Given the description of an element on the screen output the (x, y) to click on. 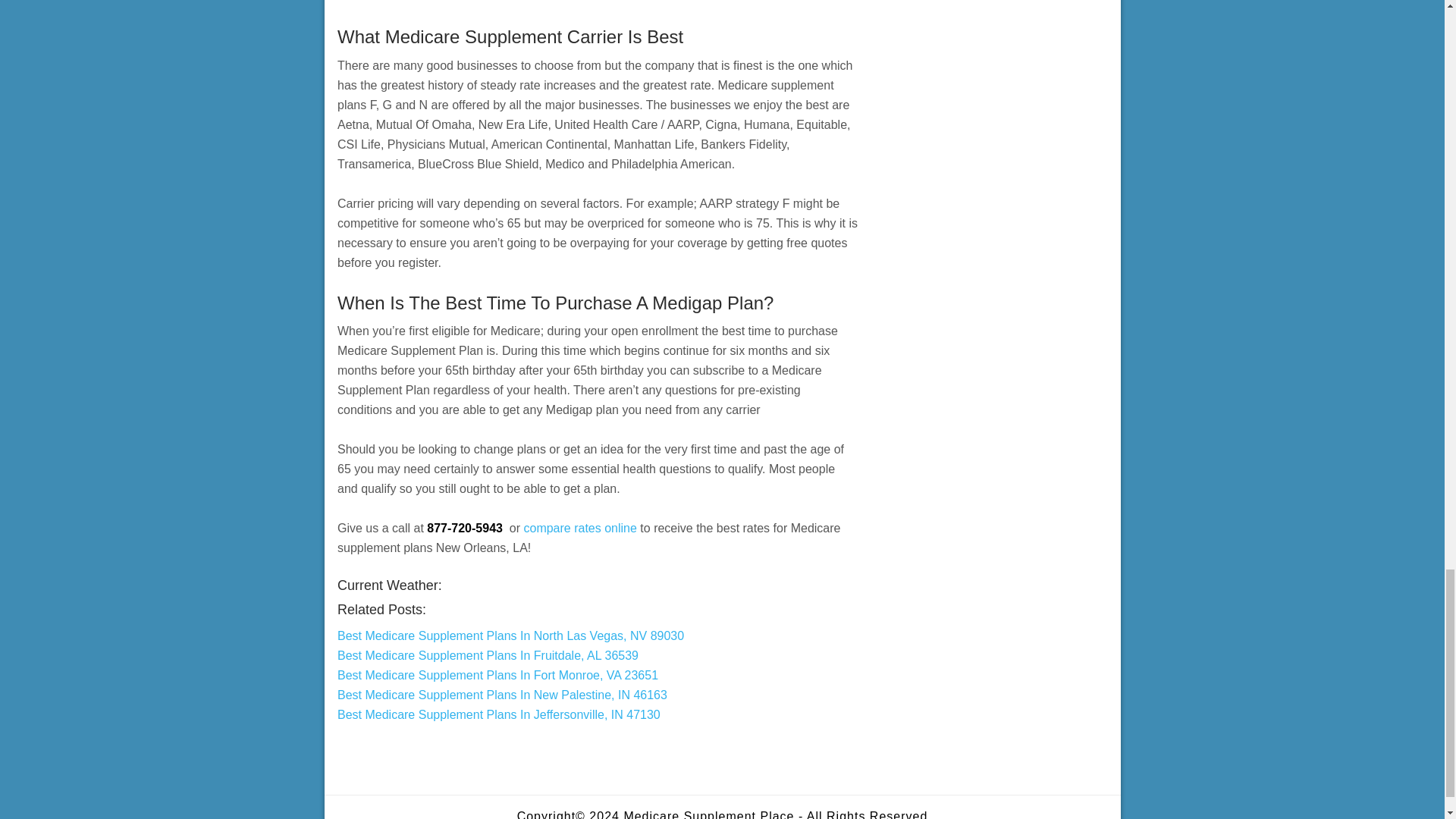
Best Medicare Supplement Plans In Jeffersonville, IN 47130 (499, 714)
compare rates online (579, 527)
Best Medicare Supplement Plans In Jeffersonville, IN 47130 (499, 714)
Best Medicare Supplement Plans In Fruitdale, AL 36539 (488, 655)
Best Medicare Supplement Plans In North Las Vegas, NV 89030 (510, 635)
Best Medicare Supplement Plans In New Palestine, IN 46163 (501, 694)
Best Medicare Supplement Plans In Fruitdale, AL 36539 (488, 655)
Best Medicare Supplement Plans In New Palestine, IN 46163 (501, 694)
Best Medicare Supplement Plans In North Las Vegas, NV 89030 (510, 635)
Best Medicare Supplement Plans In Fort Monroe, VA 23651 (497, 675)
Best Medicare Supplement Plans In Fort Monroe, VA 23651 (497, 675)
